Given the description of an element on the screen output the (x, y) to click on. 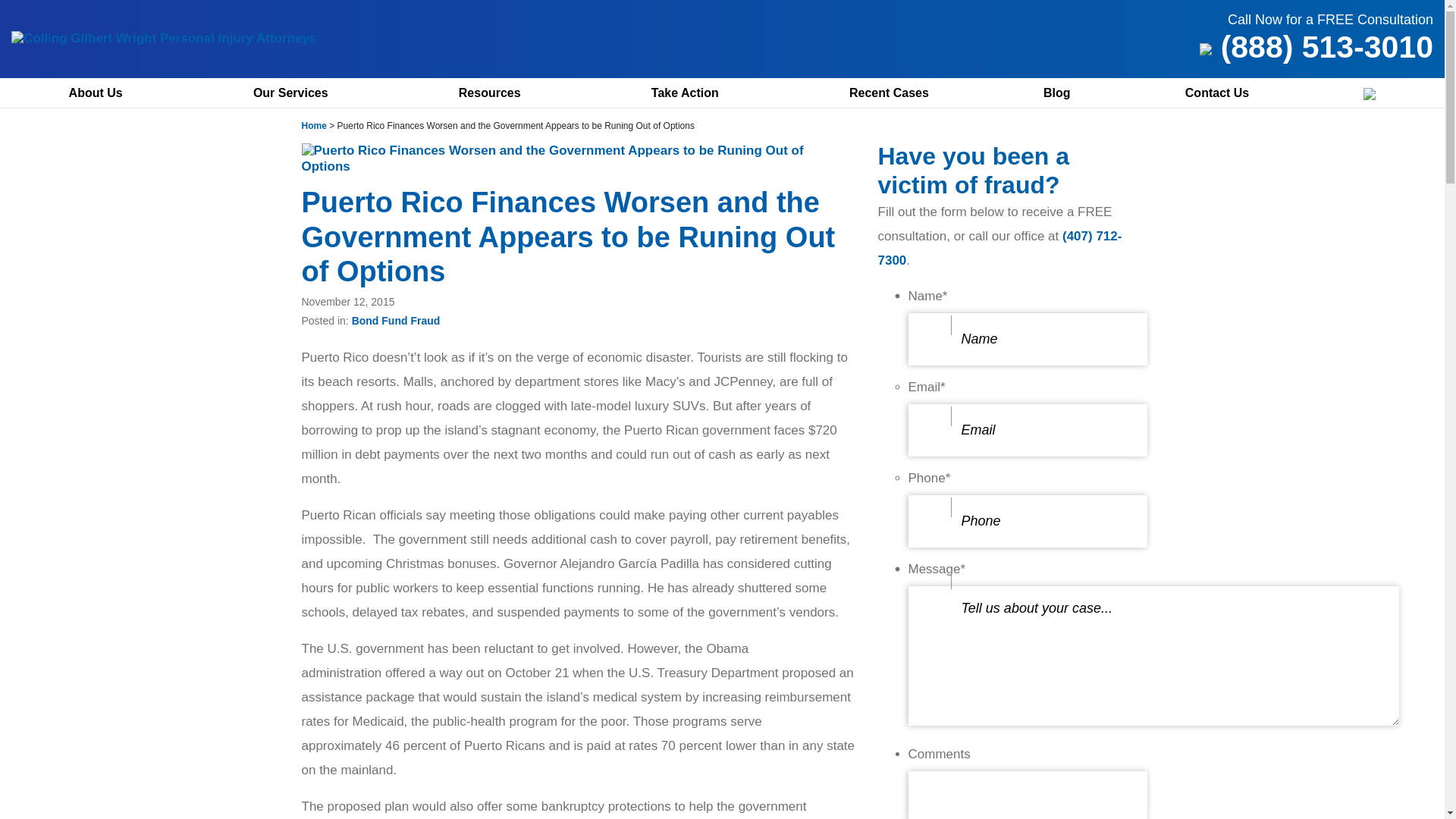
Our Services (298, 92)
Take Action (693, 92)
About Us (103, 92)
View all posts in Bond Fund Fraud (396, 320)
Resources (497, 92)
